Given the description of an element on the screen output the (x, y) to click on. 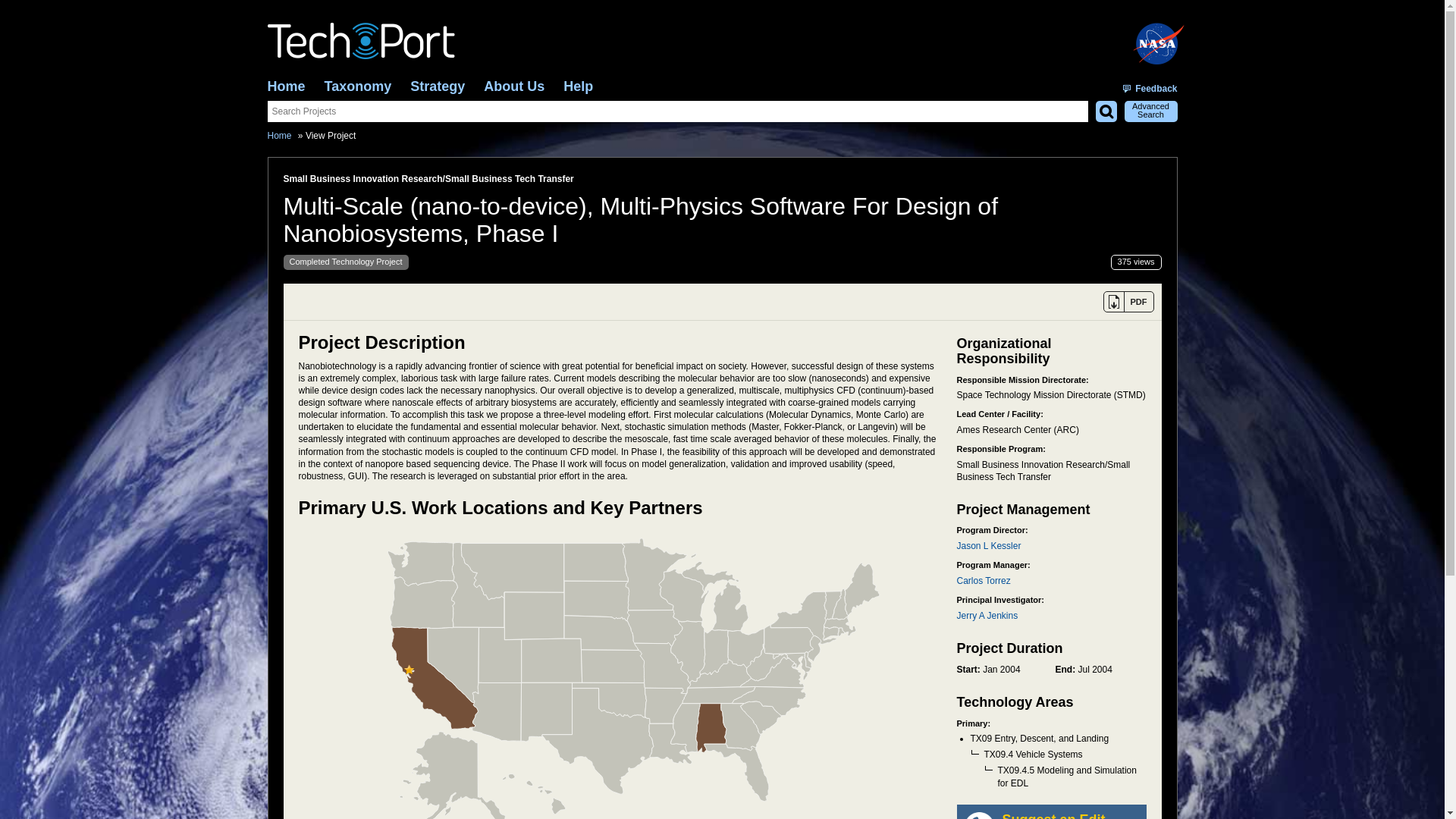
Carlos Torrez (983, 580)
Feedback (1149, 88)
Home (278, 135)
Browse the NASA Strategic Framework (437, 86)
Search (1105, 111)
Advanced Search (1150, 111)
Get help using the TechPort system (577, 86)
Home (285, 86)
Help (577, 86)
Browse the NASA Technology Taxonomy (357, 86)
Strategy (437, 86)
About Us (513, 86)
About Us (513, 86)
Jason L Kessler (989, 545)
